Given the description of an element on the screen output the (x, y) to click on. 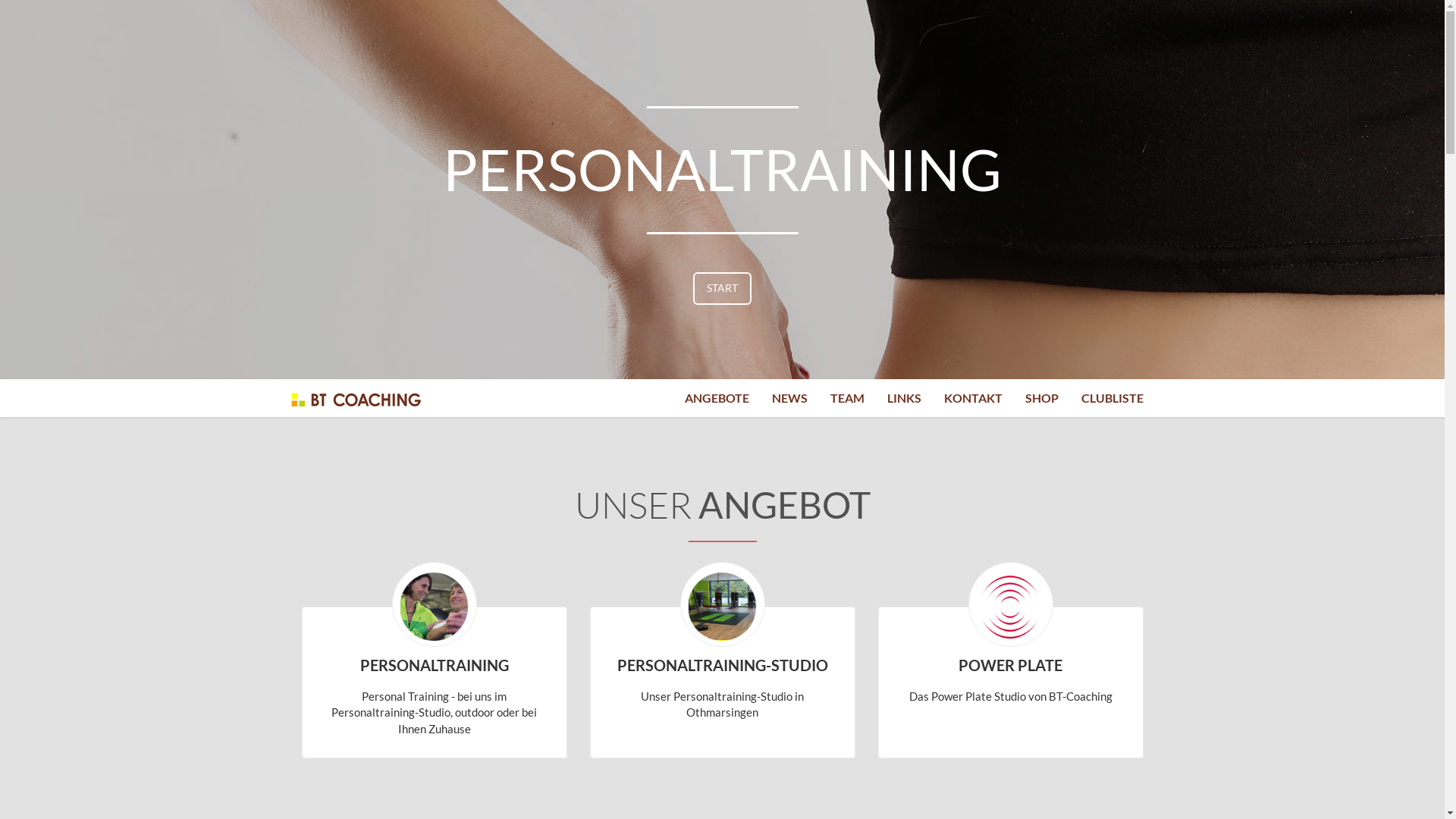
SHOP Element type: text (1041, 398)
KONTAKT Element type: text (972, 398)
TEAM Element type: text (847, 398)
NEWS Element type: text (788, 398)
START Element type: text (722, 288)
LINKS Element type: text (903, 398)
CLUBLISTE Element type: text (1111, 398)
ANGEBOTE Element type: text (716, 398)
